Given the description of an element on the screen output the (x, y) to click on. 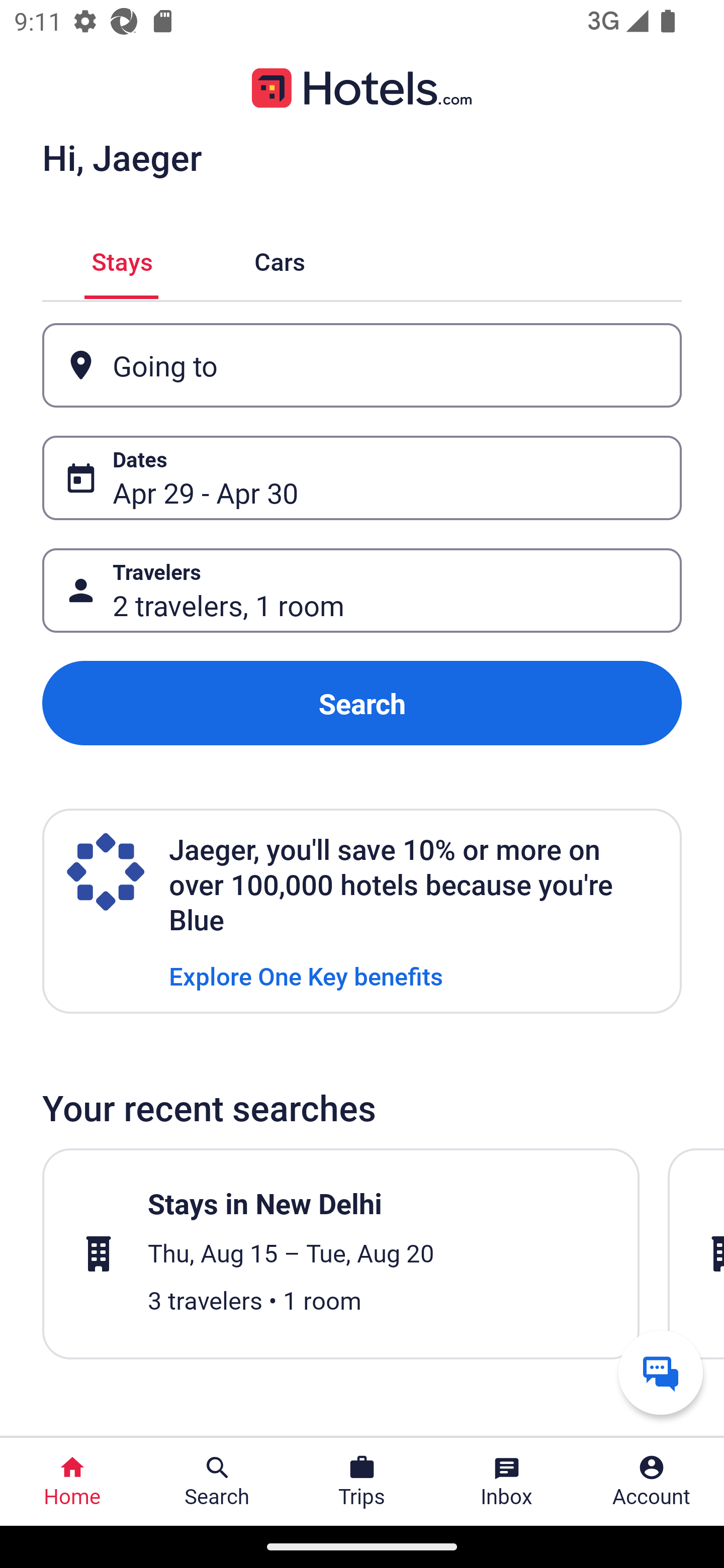
Hi, Jaeger (121, 156)
Cars (279, 259)
Going to Button (361, 365)
Dates Button Apr 29 - Apr 30 (361, 477)
Travelers Button 2 travelers, 1 room (361, 590)
Search (361, 702)
Get help from a virtual agent (660, 1371)
Search Search Button (216, 1481)
Trips Trips Button (361, 1481)
Inbox Inbox Button (506, 1481)
Account Profile. Button (651, 1481)
